Given the description of an element on the screen output the (x, y) to click on. 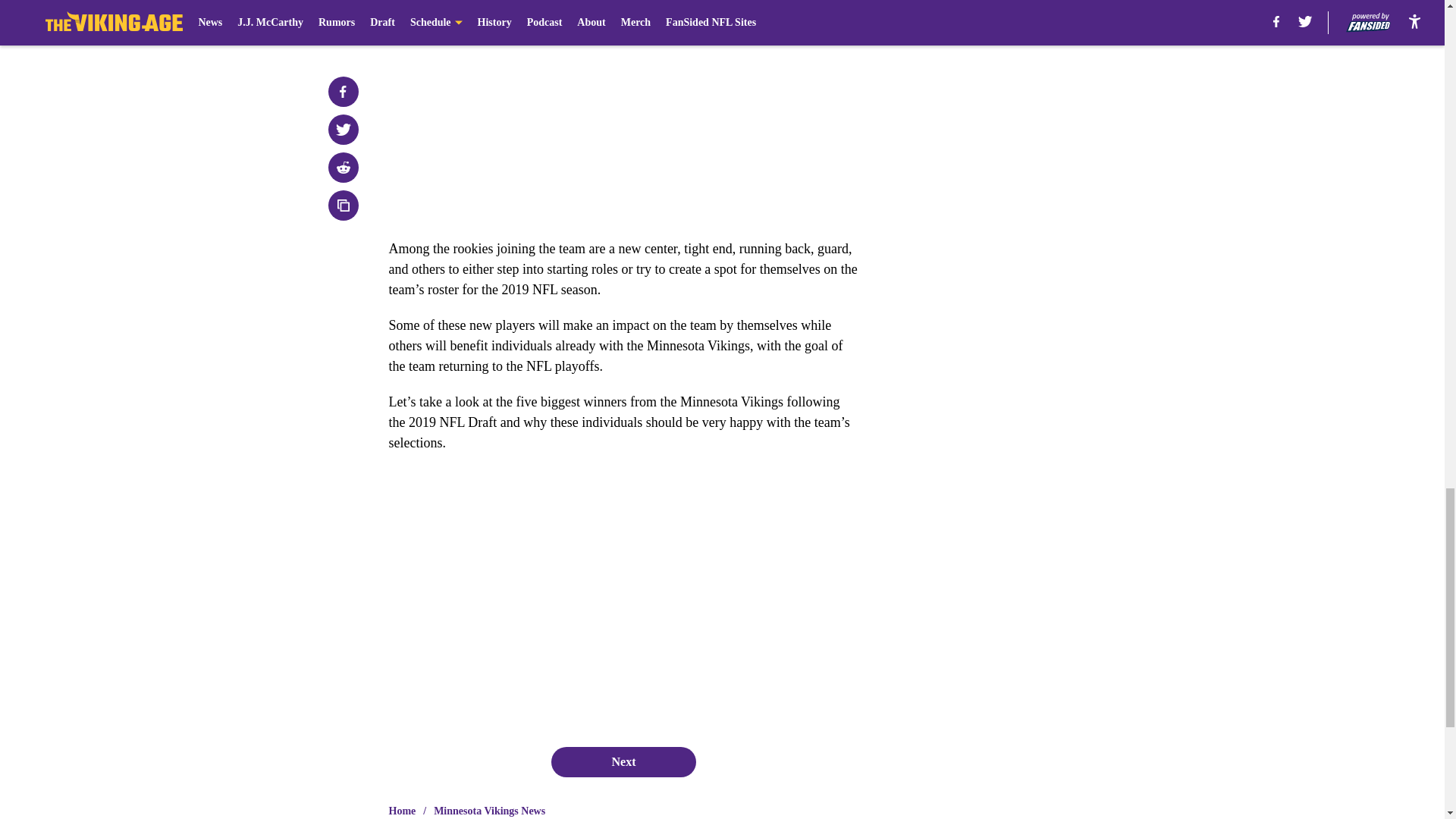
Next (622, 761)
Minnesota Vikings News (488, 811)
Home (401, 811)
